Given the description of an element on the screen output the (x, y) to click on. 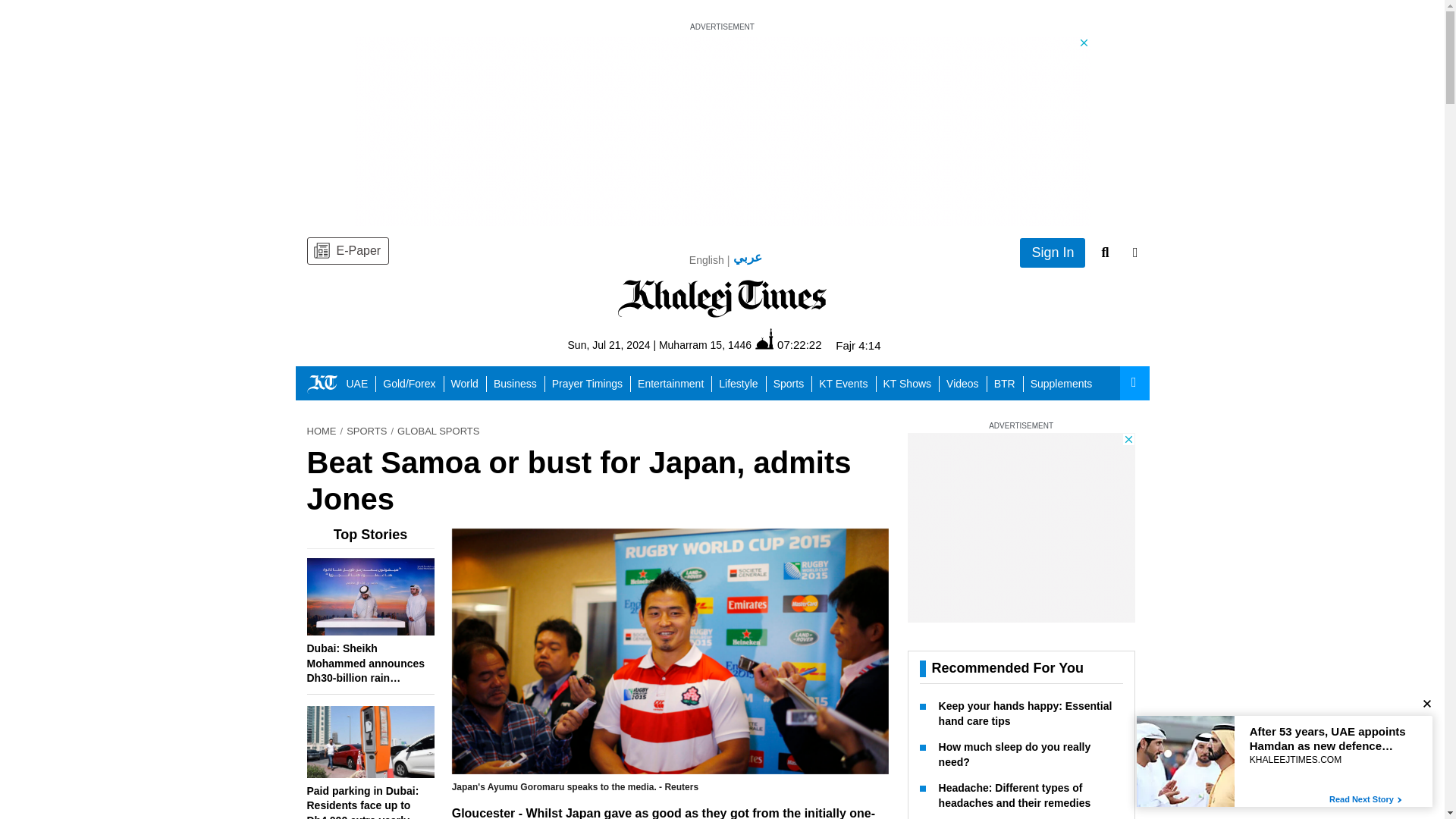
Fajr 4:14 (857, 345)
Sign In (1052, 252)
07:22:22 (788, 344)
E-Paper (346, 250)
